Given the description of an element on the screen output the (x, y) to click on. 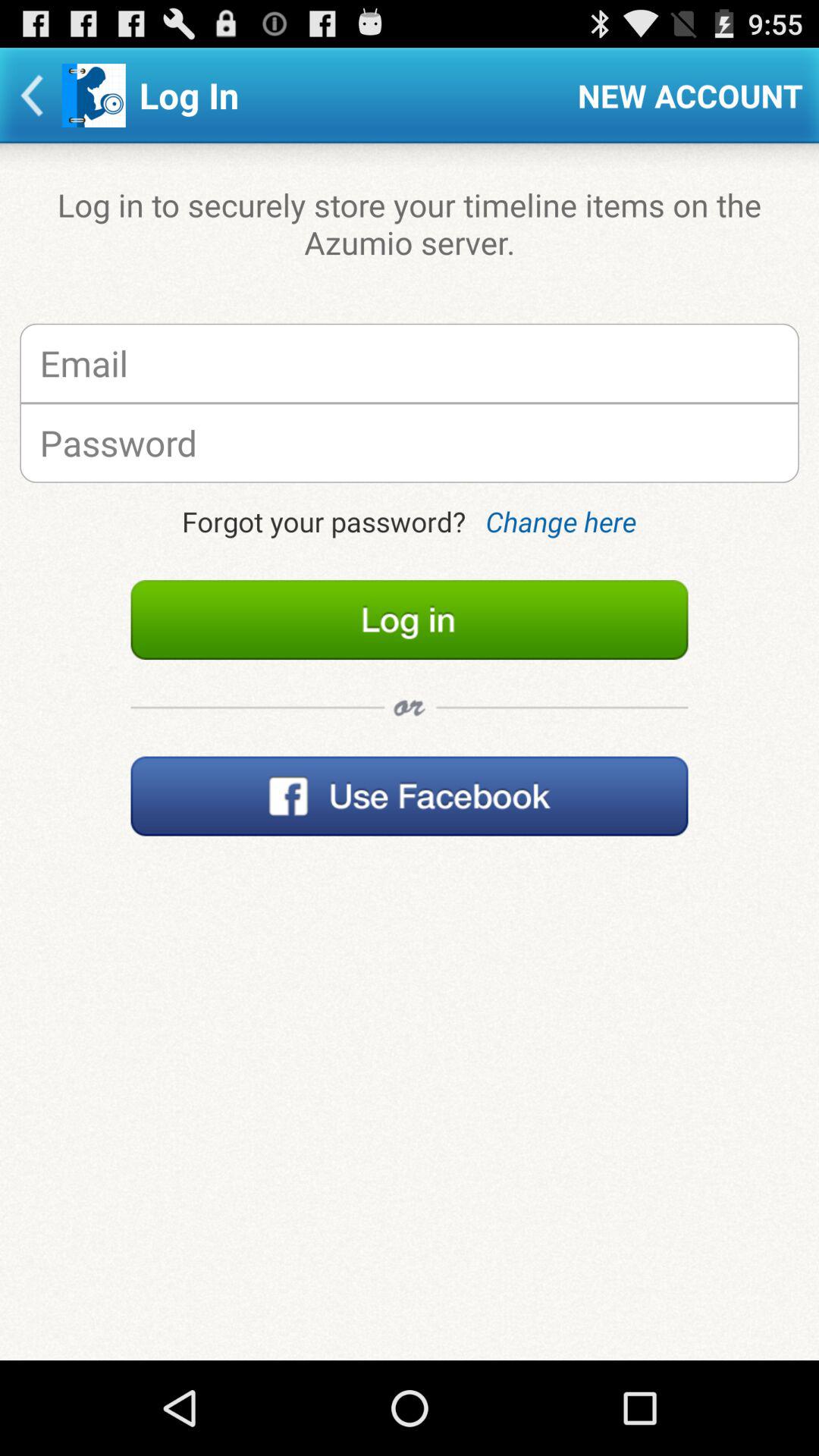
jump to new account item (690, 95)
